Given the description of an element on the screen output the (x, y) to click on. 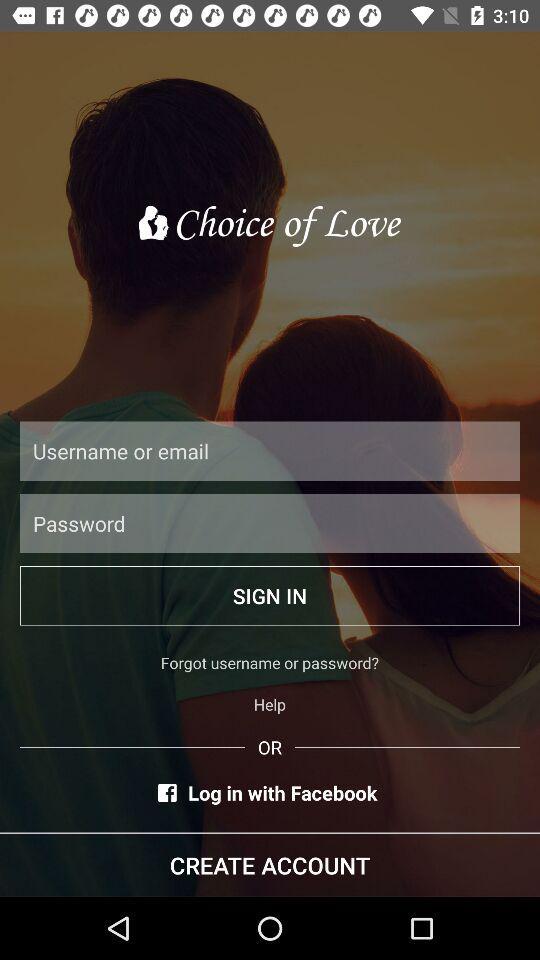
tap create account item (270, 864)
